Given the description of an element on the screen output the (x, y) to click on. 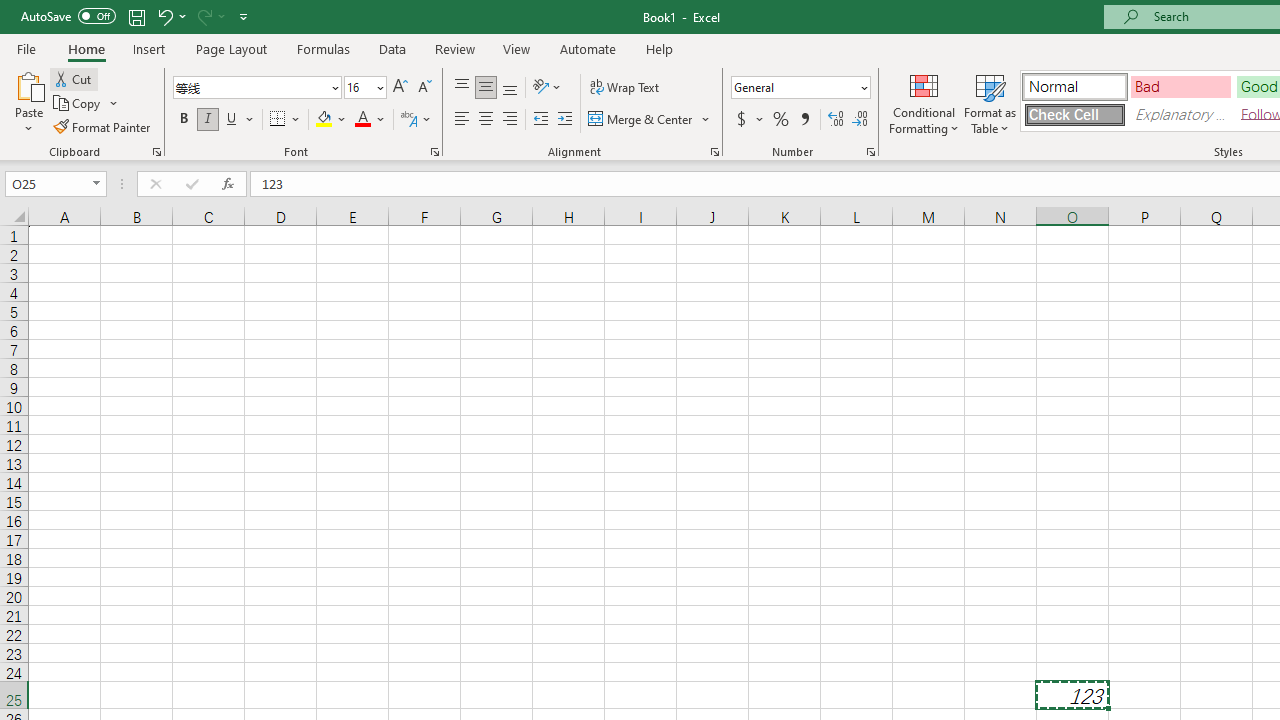
Borders (285, 119)
Decrease Decimal (859, 119)
Font Size (358, 87)
Increase Font Size (399, 87)
Check Cell (1074, 114)
Format Painter (103, 126)
Number Format (800, 87)
Increase Indent (565, 119)
Orientation (547, 87)
Font Color (370, 119)
